Given the description of an element on the screen output the (x, y) to click on. 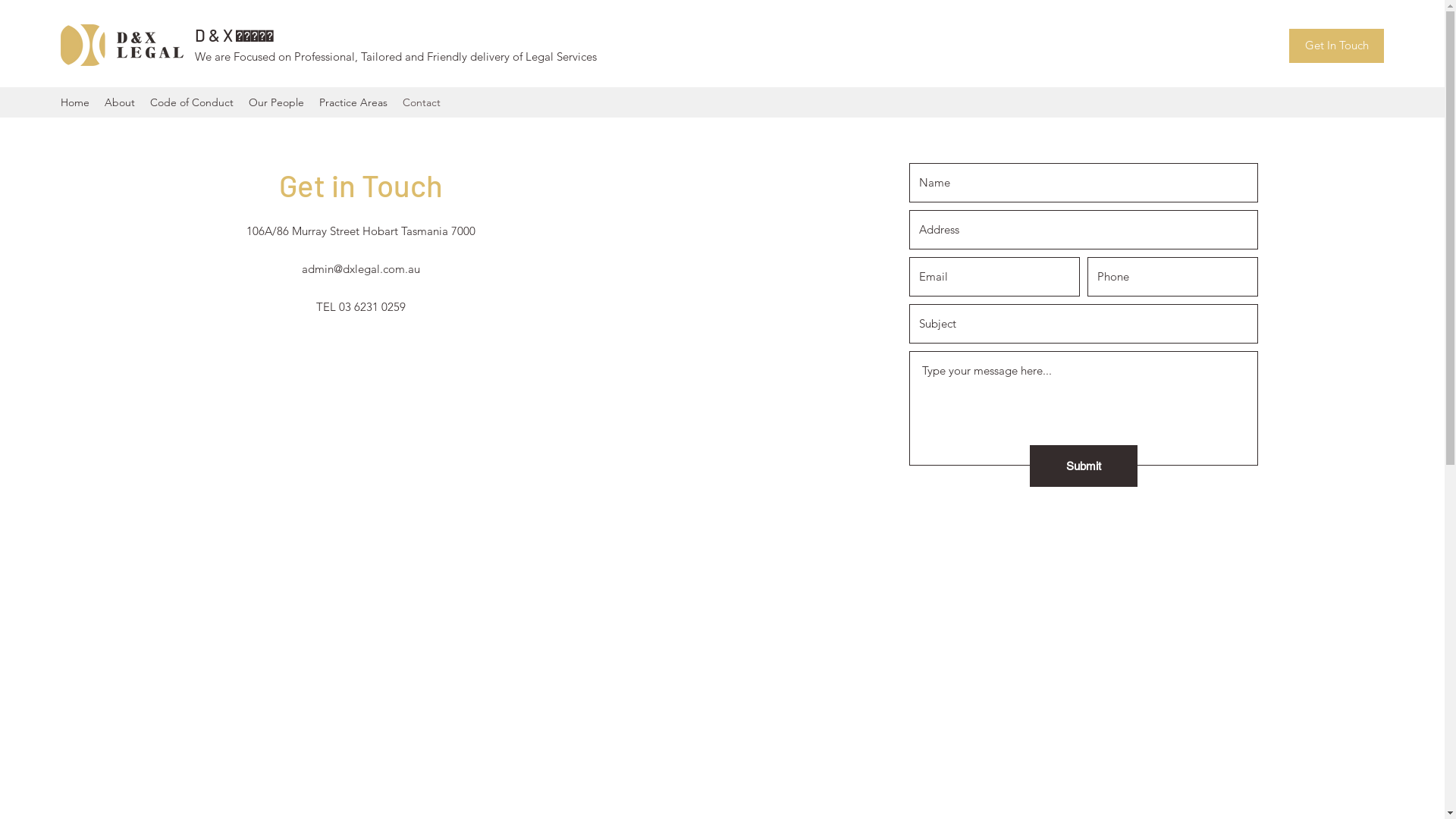
admin@dxlegal.com.au Element type: text (360, 268)
About Element type: text (119, 102)
Practice Areas Element type: text (353, 102)
Code of Conduct Element type: text (191, 102)
Contact Element type: text (421, 102)
Our People Element type: text (276, 102)
Get In Touch Element type: text (1336, 45)
Home Element type: text (75, 102)
Submit Element type: text (1083, 465)
